Given the description of an element on the screen output the (x, y) to click on. 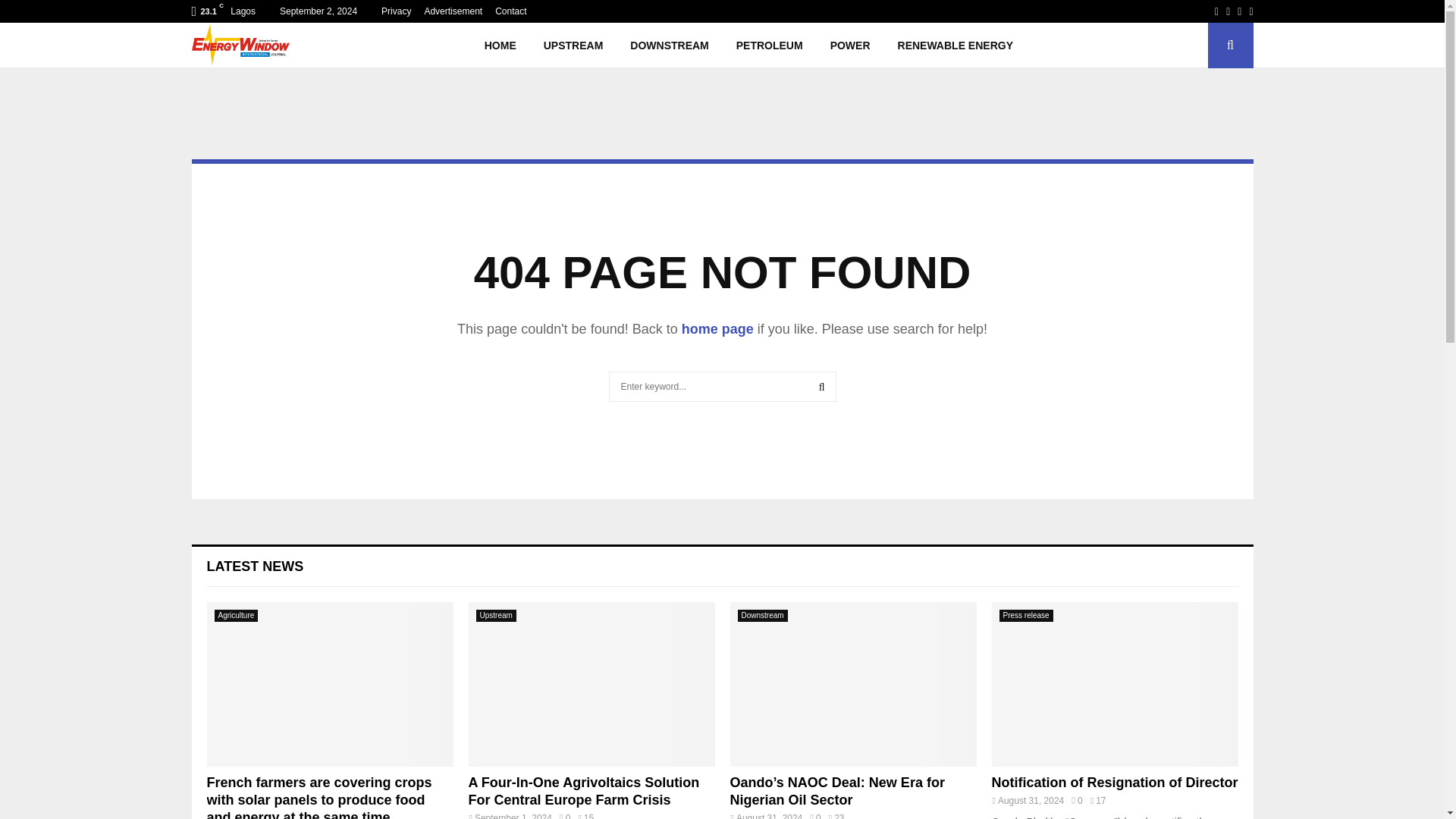
View all posts in Upstream (496, 615)
Notification of Resignation of Director (1115, 683)
0 (564, 816)
Agriculture (235, 615)
Downstream (761, 615)
Contact (510, 11)
DOWNSTREAM (668, 44)
 Notification of Resignation of Director  (1115, 782)
